Given the description of an element on the screen output the (x, y) to click on. 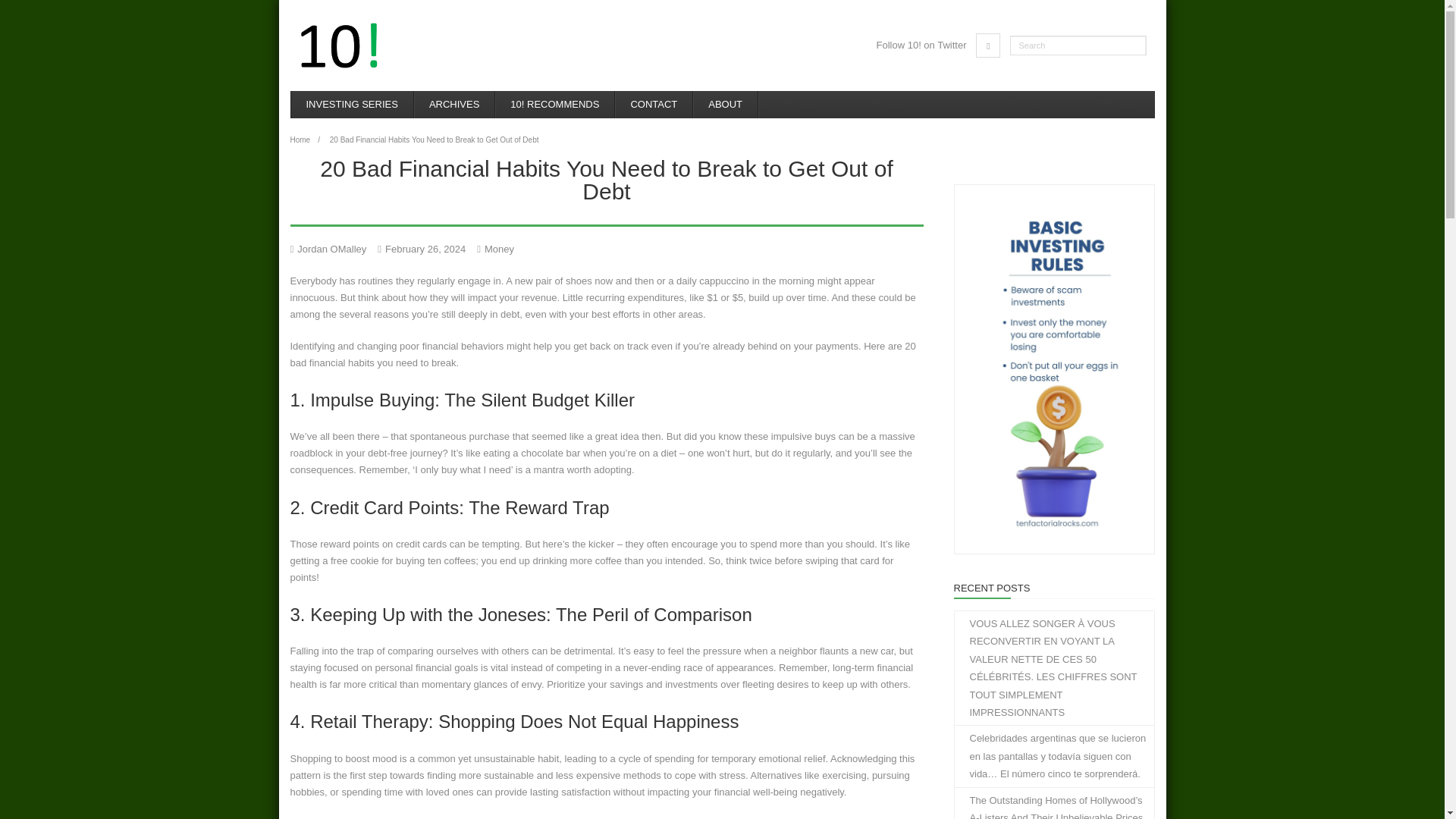
20 Bad Financial Habits You Need to Break to Get Out of Debt (425, 247)
ABOUT (725, 103)
Home (299, 139)
Search (26, 10)
Jordan OMalley (331, 247)
February 26, 2024 (425, 247)
View all posts by Jordan OMalley (331, 247)
INVESTING SERIES (351, 103)
CONTACT (653, 103)
ARCHIVES (454, 103)
Money (498, 247)
10! RECOMMENDS (554, 103)
